Given the description of an element on the screen output the (x, y) to click on. 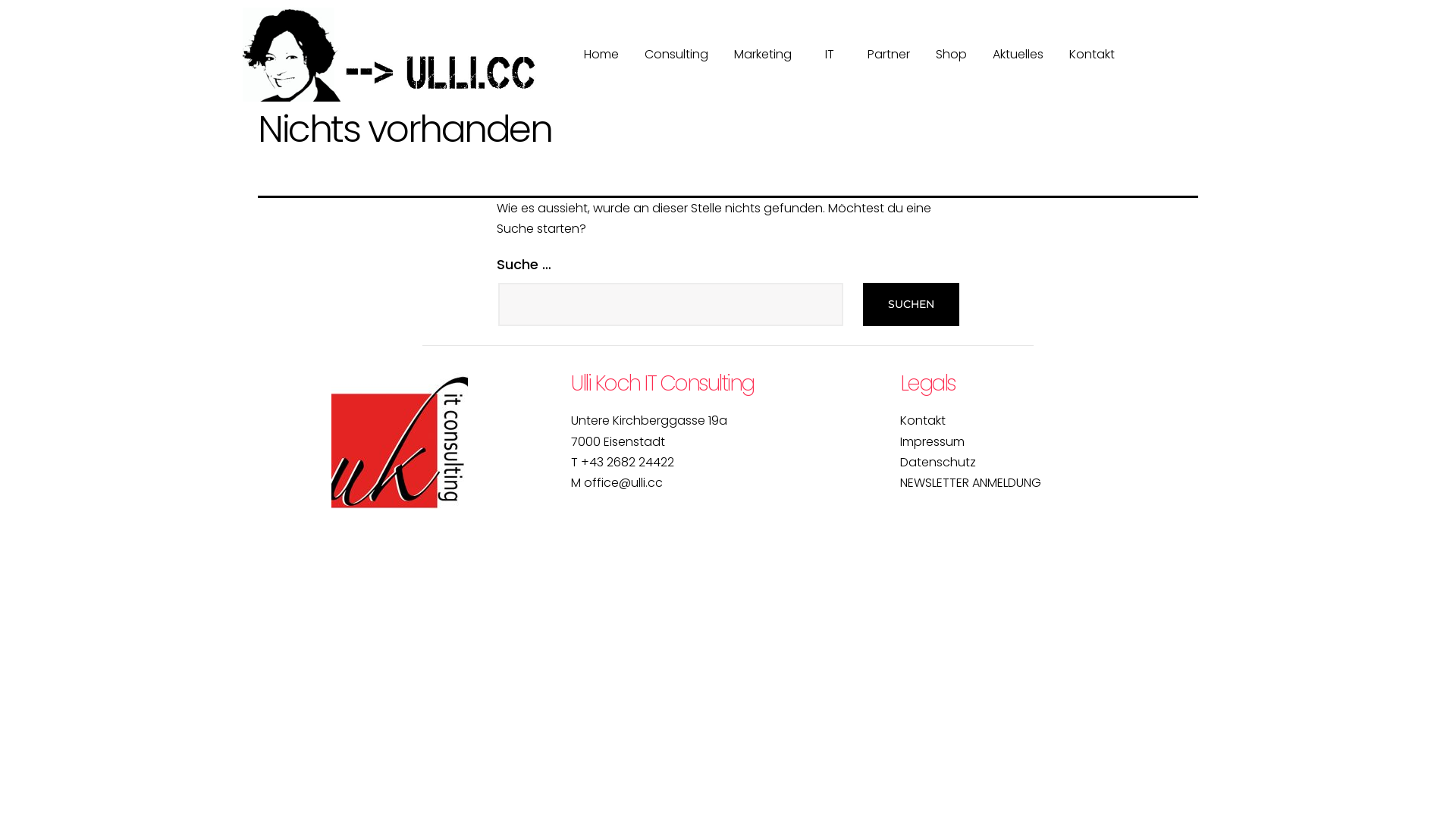
NEWSLETTER ANMELDUNG Element type: text (970, 482)
Marketing Element type: text (766, 54)
office@ulli.cc Element type: text (622, 482)
Home Element type: text (601, 54)
Kontakt Element type: text (1095, 54)
Shop Element type: text (950, 54)
Page 2 Element type: hover (1056, 502)
Kontakt Element type: text (922, 420)
Ulli Koch ulli.cc Element type: hover (399, 440)
Consulting Element type: text (676, 54)
Suchen Element type: text (910, 304)
Partner Element type: text (888, 54)
IT Element type: text (833, 54)
+43 2682 24422 Element type: text (627, 461)
Datenschutz Element type: text (937, 461)
Aktuelles Element type: text (1017, 54)
Impressum Element type: text (932, 441)
